Given the description of an element on the screen output the (x, y) to click on. 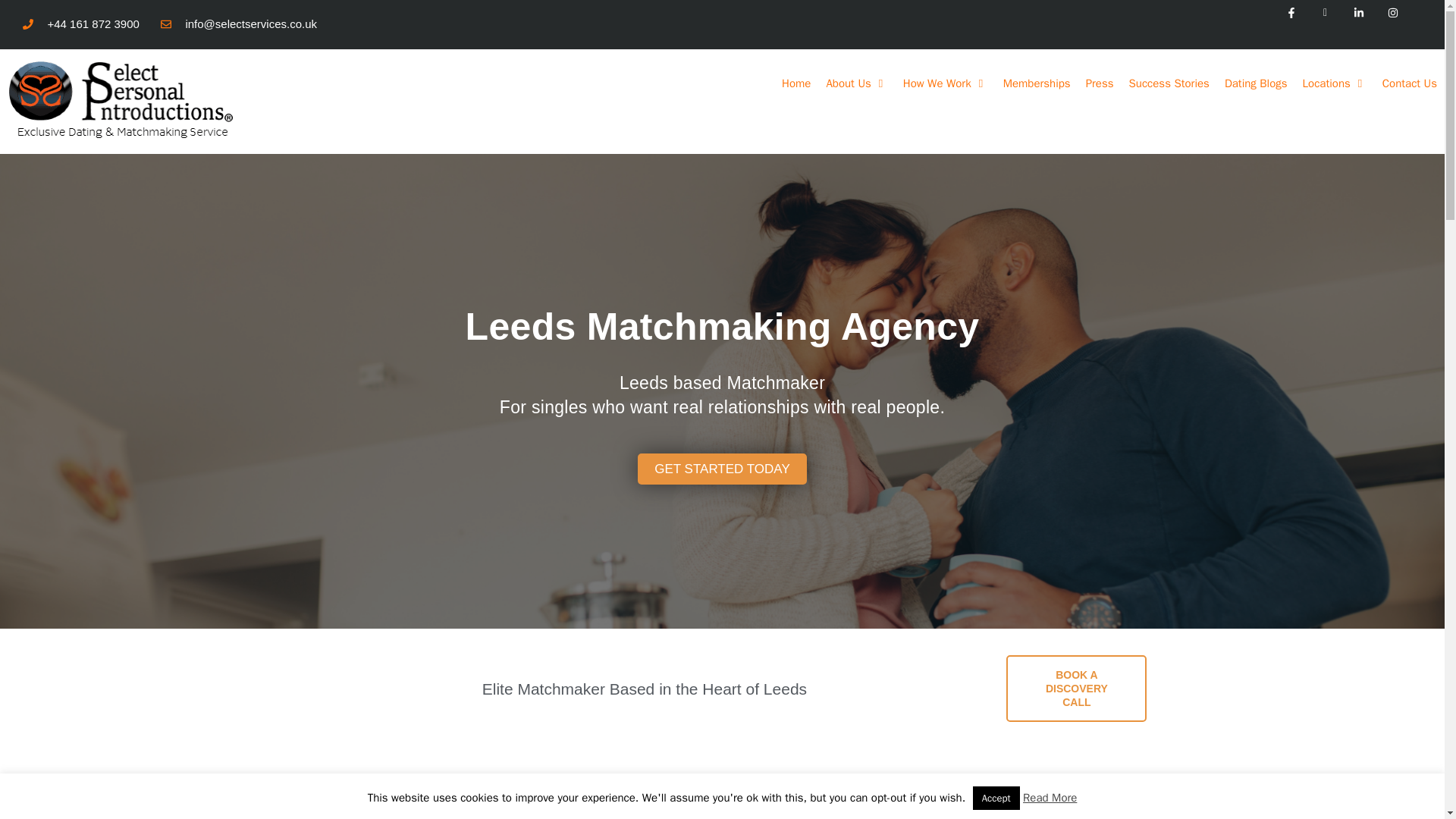
Select Personal Introductions (121, 99)
About Us (856, 83)
Memberships (1036, 83)
Press (1099, 83)
Home (796, 83)
Locations (1334, 83)
How We Work (945, 83)
Success Stories (1169, 83)
Dating Blogs (1256, 83)
